Given the description of an element on the screen output the (x, y) to click on. 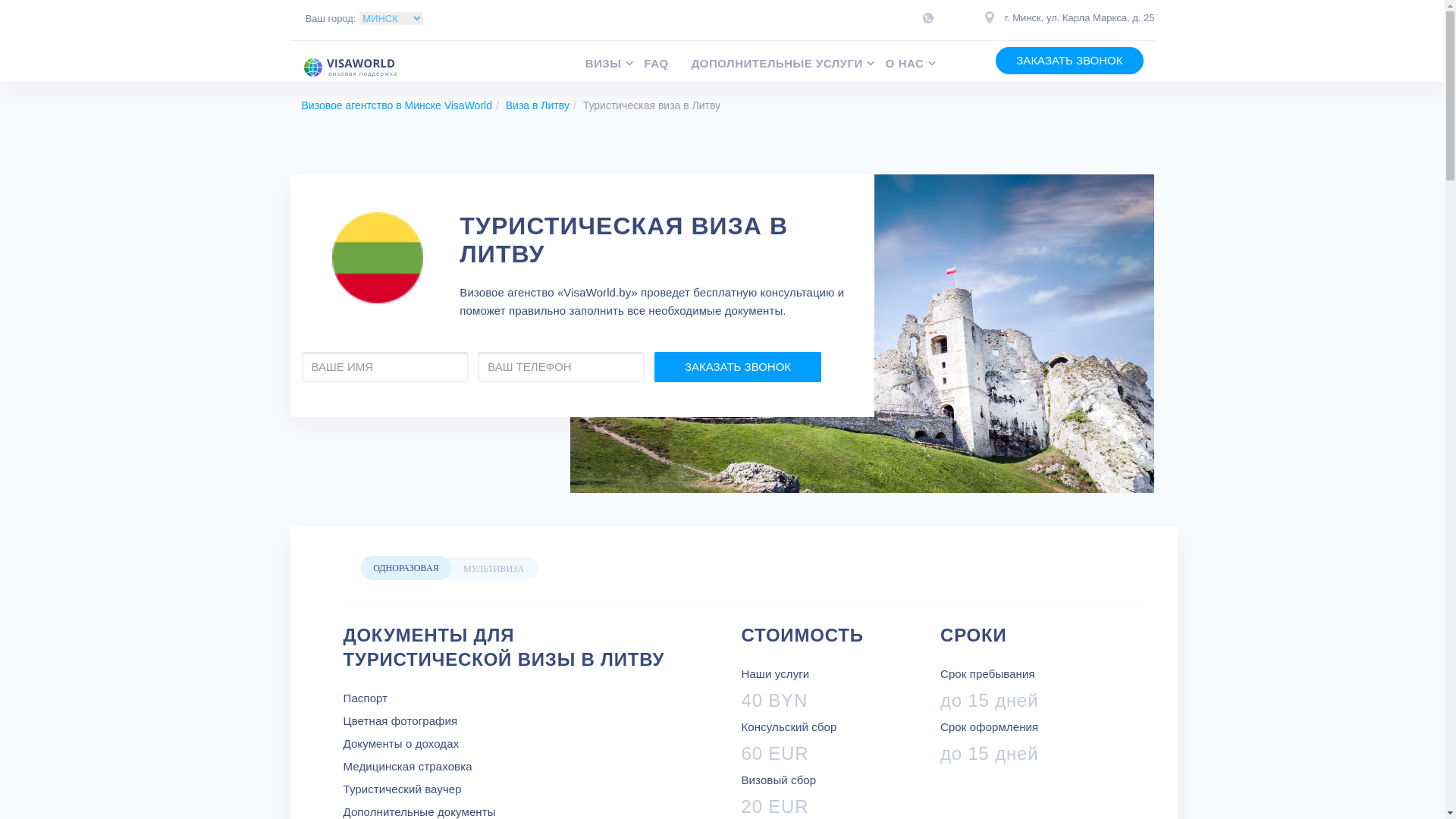
FAQ Element type: text (666, 63)
